Given the description of an element on the screen output the (x, y) to click on. 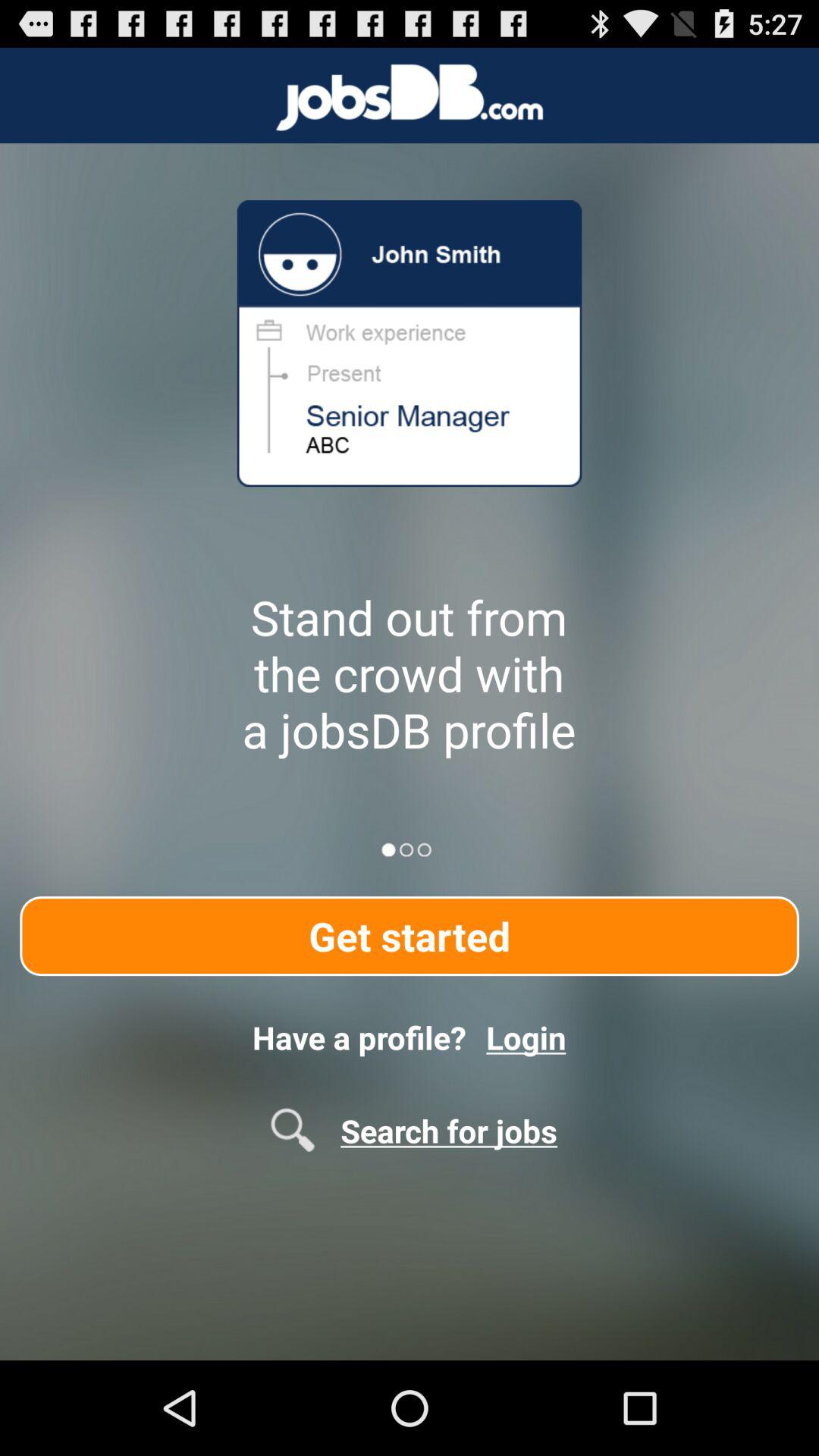
turn on the get started icon (409, 935)
